Given the description of an element on the screen output the (x, y) to click on. 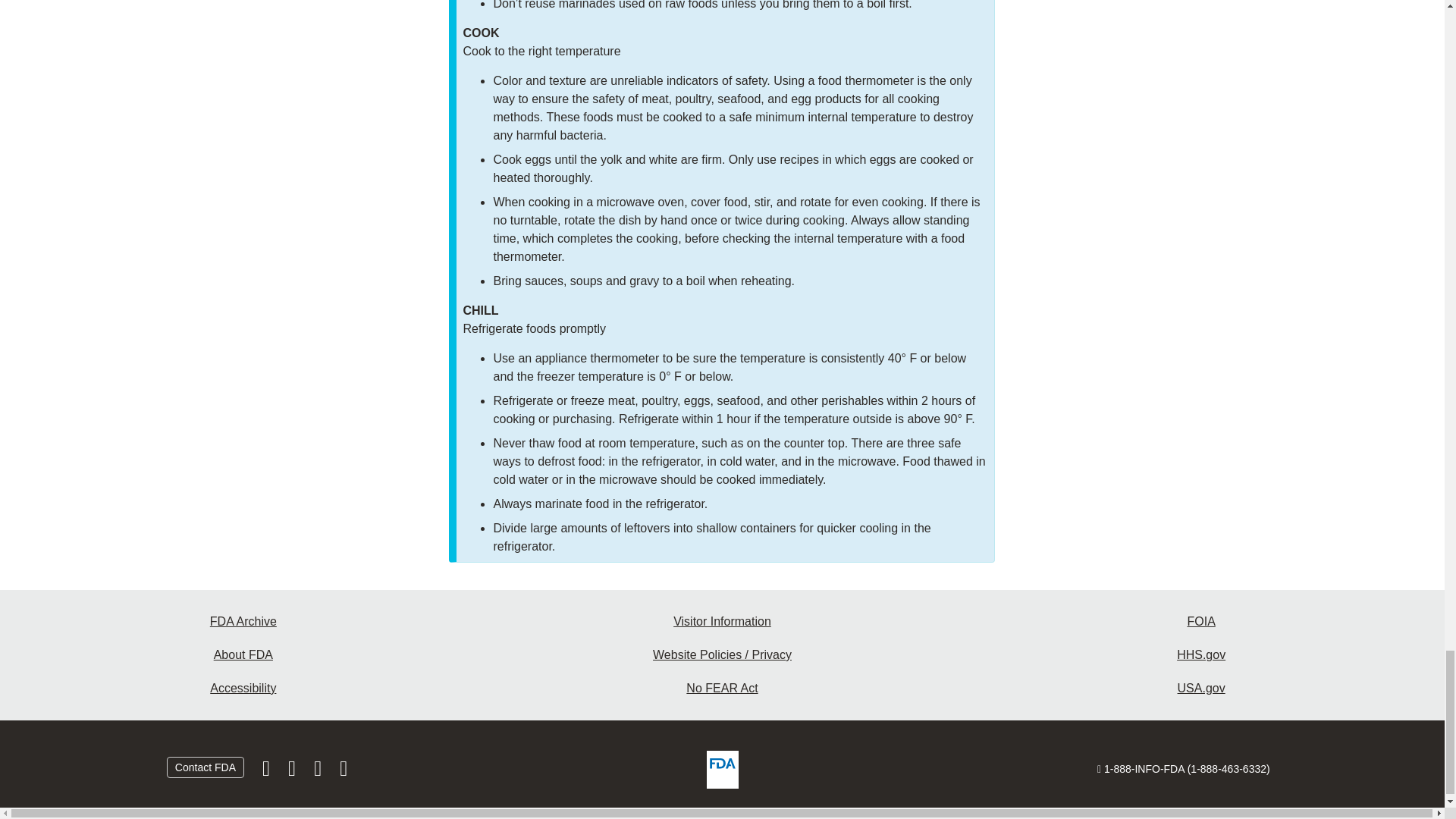
Subscribe to FDA RSS feeds (343, 771)
Follow FDA on Facebook (267, 771)
Health and Human Services (1200, 654)
Freedom of Information Act (1200, 621)
Follow FDA on Twitter (293, 771)
View FDA videos on YouTube (318, 771)
